Given the description of an element on the screen output the (x, y) to click on. 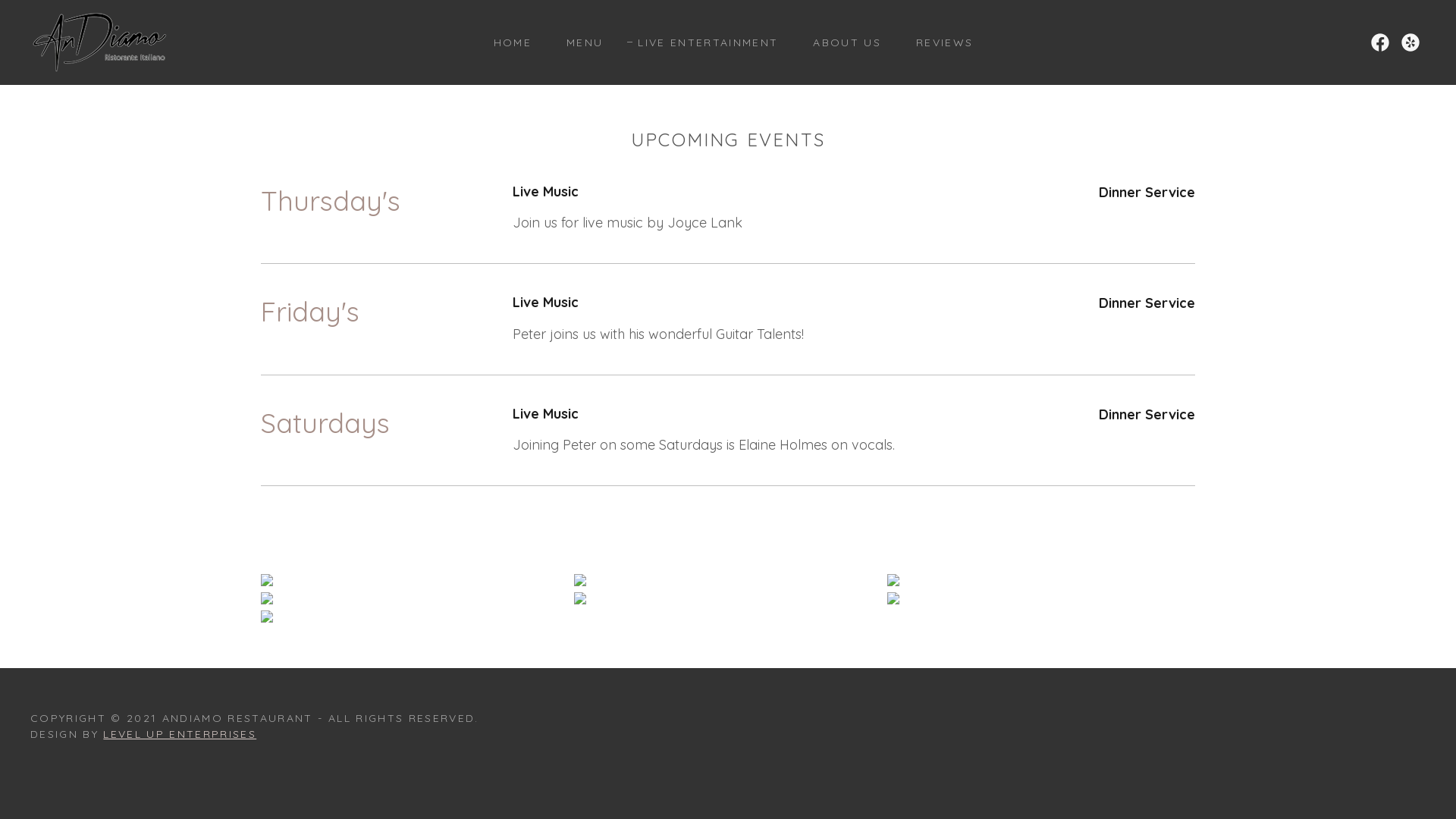
MENU Element type: text (579, 42)
LIVE ENTERTAINMENT Element type: text (702, 42)
LEVEL UP ENTERPRISES Element type: text (179, 733)
ABOUT US Element type: text (841, 42)
HOME Element type: text (507, 42)
REVIEWS Element type: text (938, 42)
Andiamo Restaurant Element type: hover (99, 41)
